Given the description of an element on the screen output the (x, y) to click on. 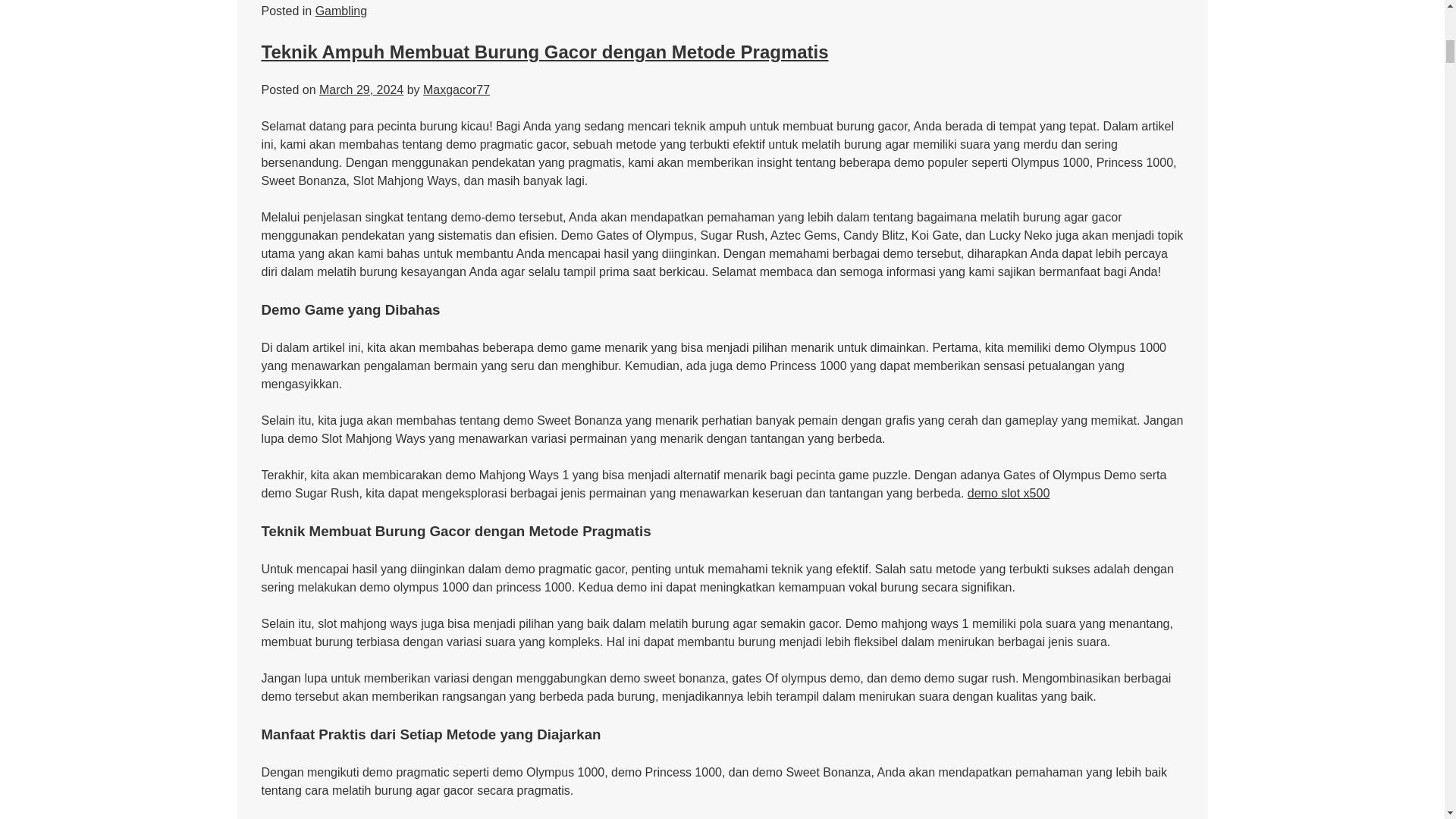
Gambling (340, 10)
Teknik Ampuh Membuat Burung Gacor dengan Metode Pragmatis (544, 51)
Maxgacor77 (456, 89)
demo slot x500 (1008, 492)
March 29, 2024 (360, 89)
